Given the description of an element on the screen output the (x, y) to click on. 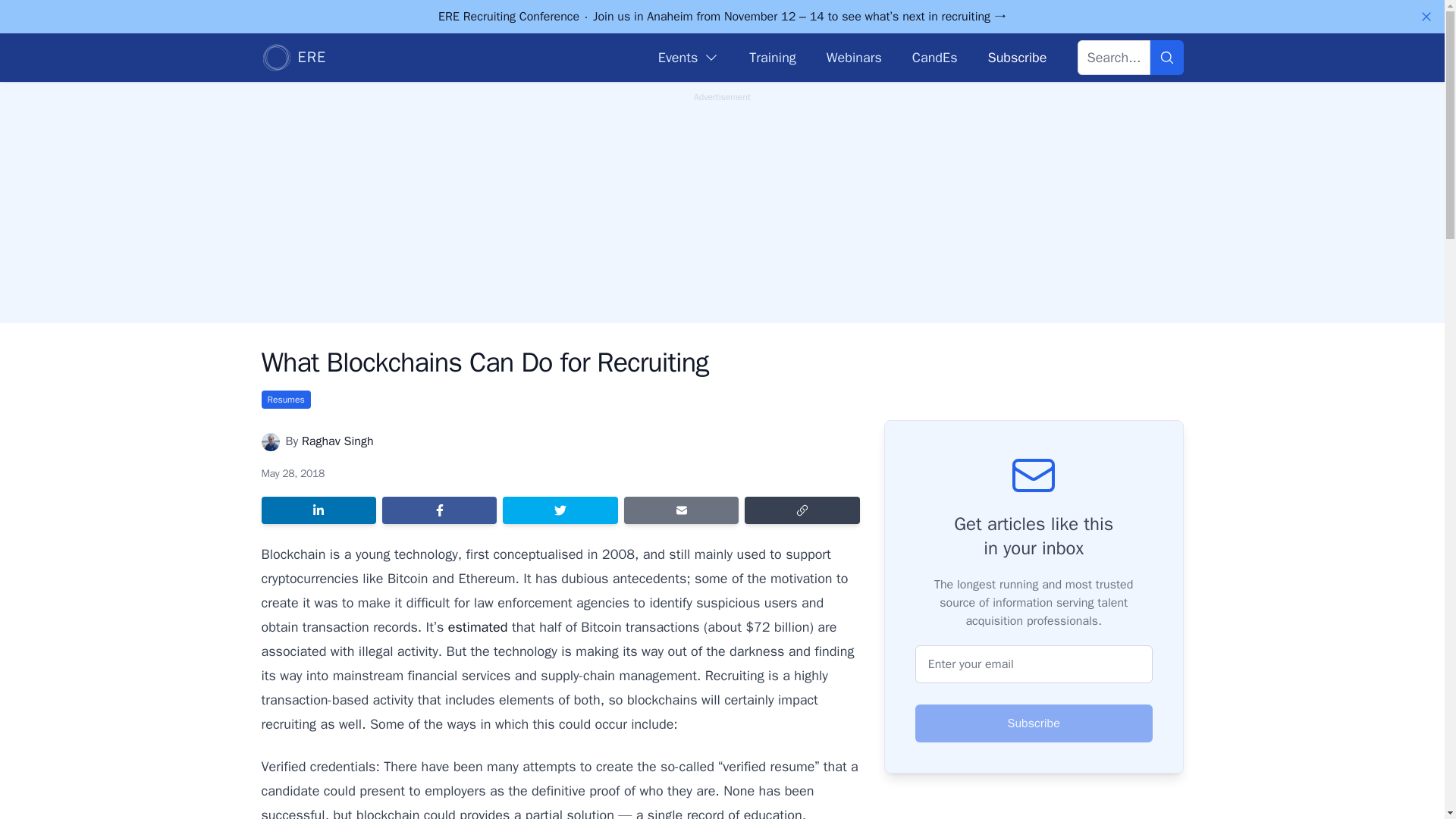
Resumes (285, 399)
Webinars (854, 56)
ERE (293, 57)
Raghav Singh (337, 441)
CandEs (935, 56)
Events (688, 56)
estimated (478, 627)
Subscribe (1016, 56)
Training (771, 56)
Subscribe (1034, 723)
Dismiss (1425, 16)
